Given the description of an element on the screen output the (x, y) to click on. 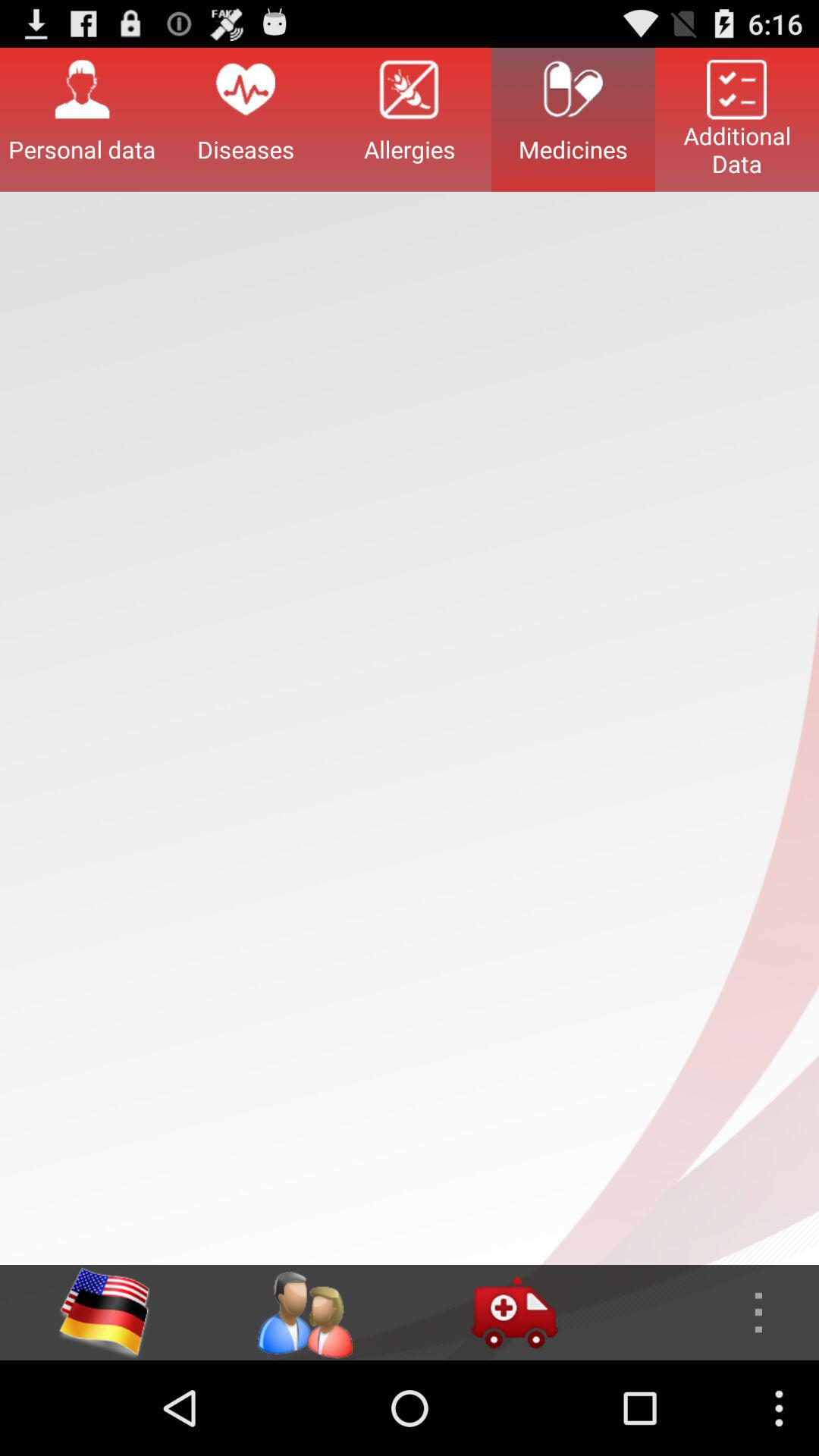
launch the icon to the right of allergies icon (573, 119)
